Given the description of an element on the screen output the (x, y) to click on. 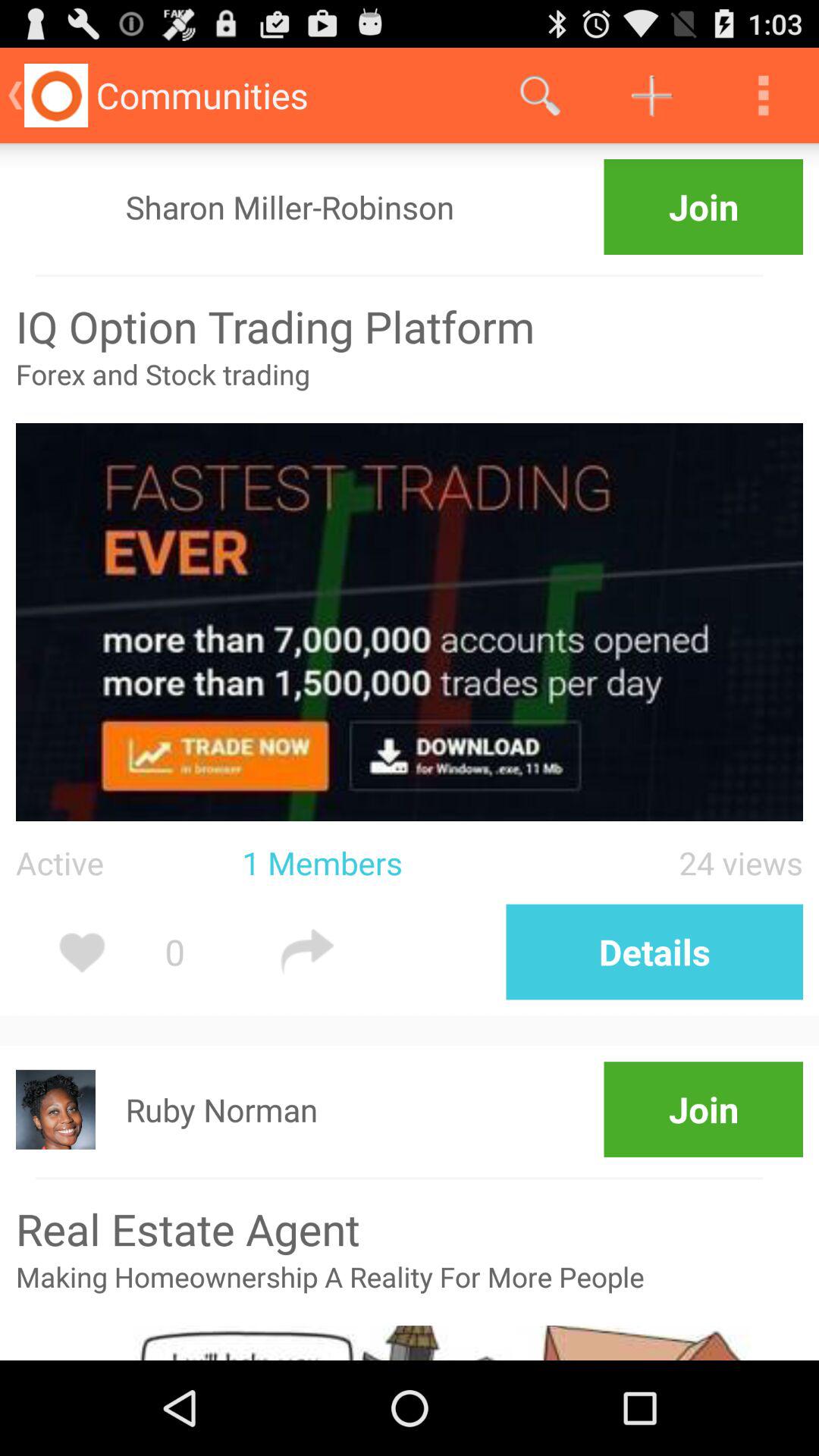
turn on item below 0 button (221, 1109)
